Given the description of an element on the screen output the (x, y) to click on. 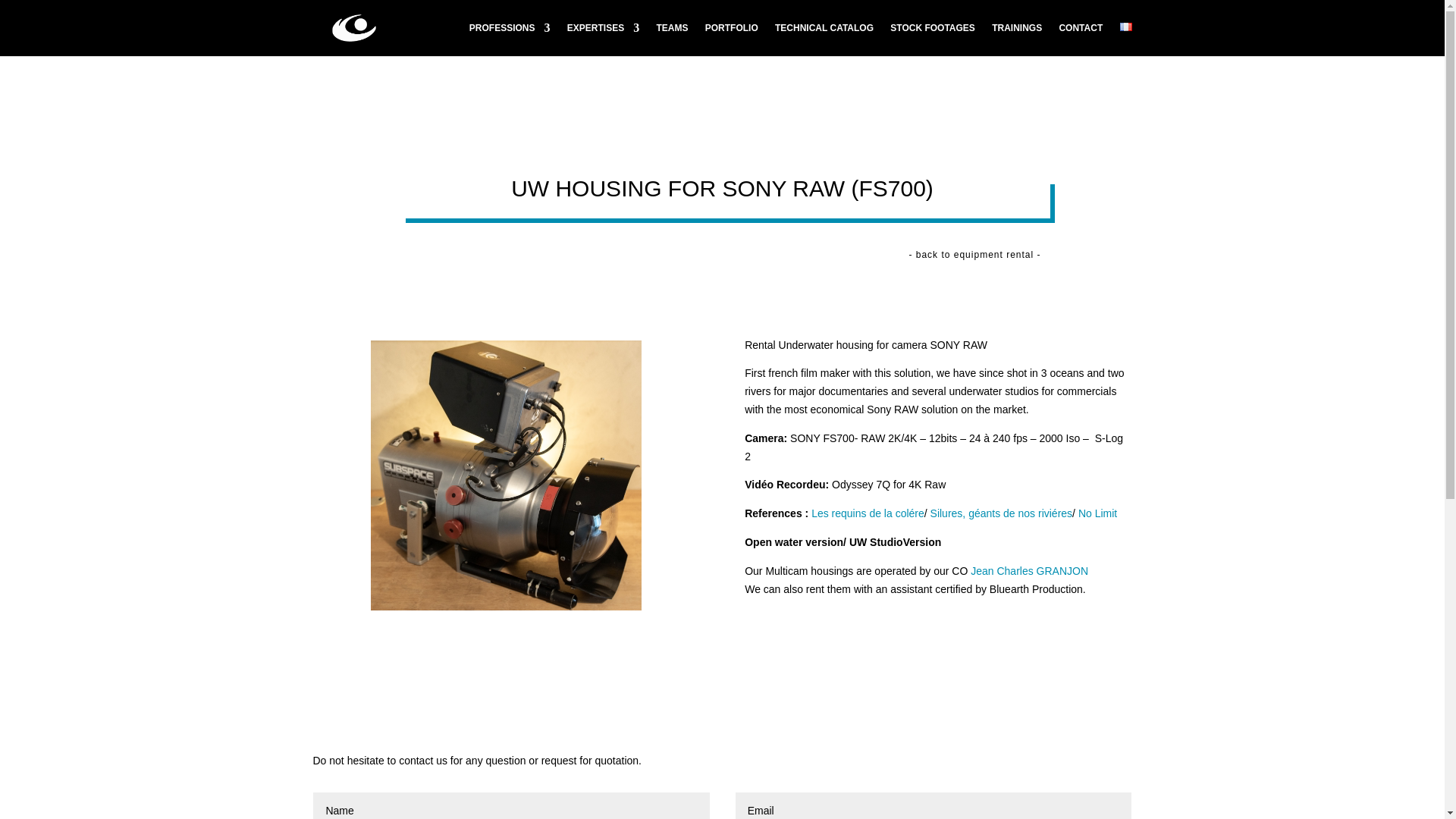
TECHNICAL CATALOG (823, 39)
No Limit (1097, 512)
- back to equipment rental - (974, 254)
TEAMS (671, 39)
TRAININGS (1016, 39)
Jean Charles GRANJON (1029, 571)
PROFESSIONS (509, 39)
STOCK FOOTAGES (932, 39)
CONTACT (1080, 39)
PORTFOLIO (731, 39)
